Given the description of an element on the screen output the (x, y) to click on. 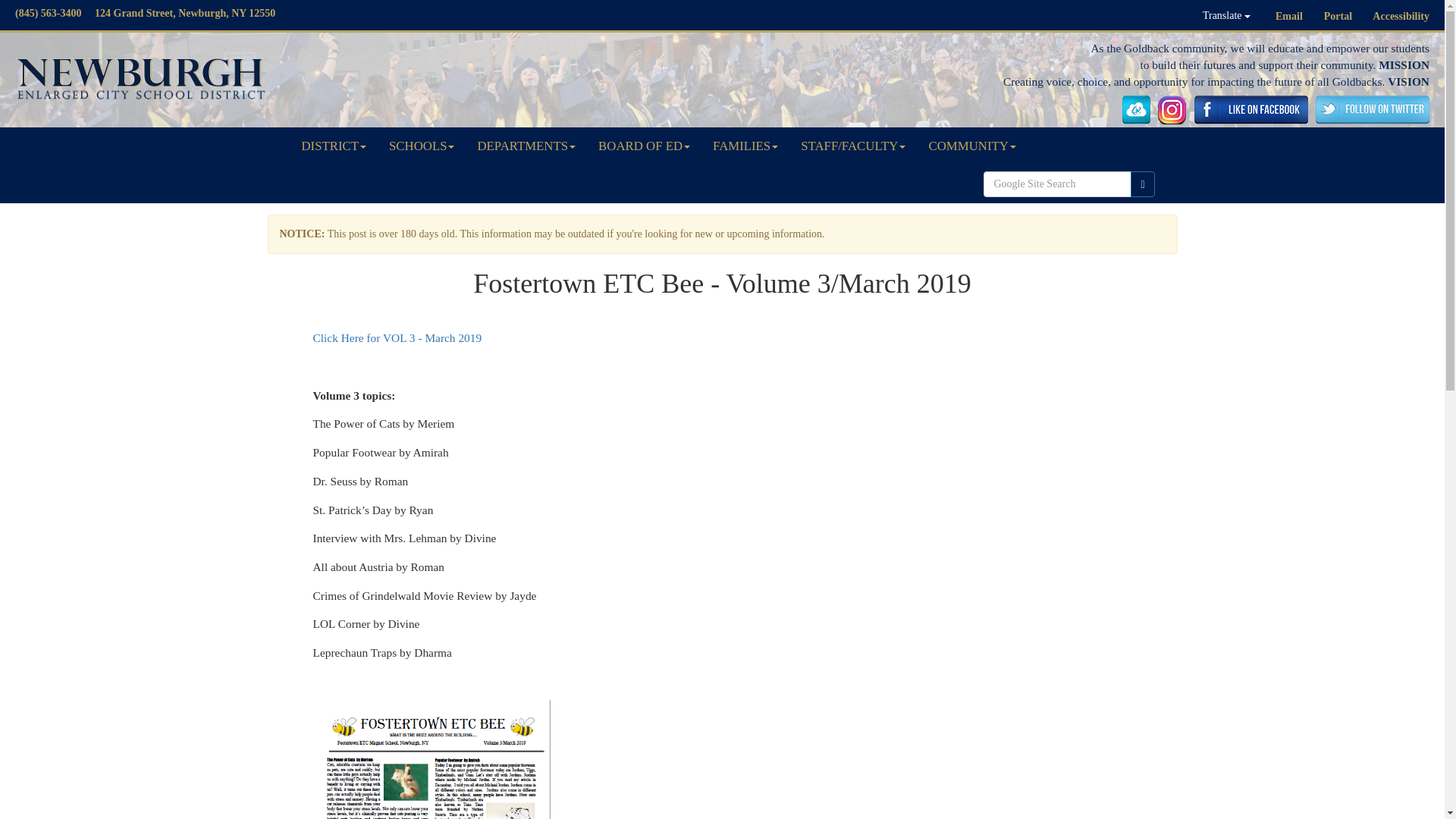
Accessibility (1401, 16)
DISTRICT (333, 146)
SCHOOLS (421, 146)
Email (1289, 16)
Portal (1337, 16)
Translate (1226, 15)
Fostertown ETC BEE Vol 3 (397, 337)
